Given the description of an element on the screen output the (x, y) to click on. 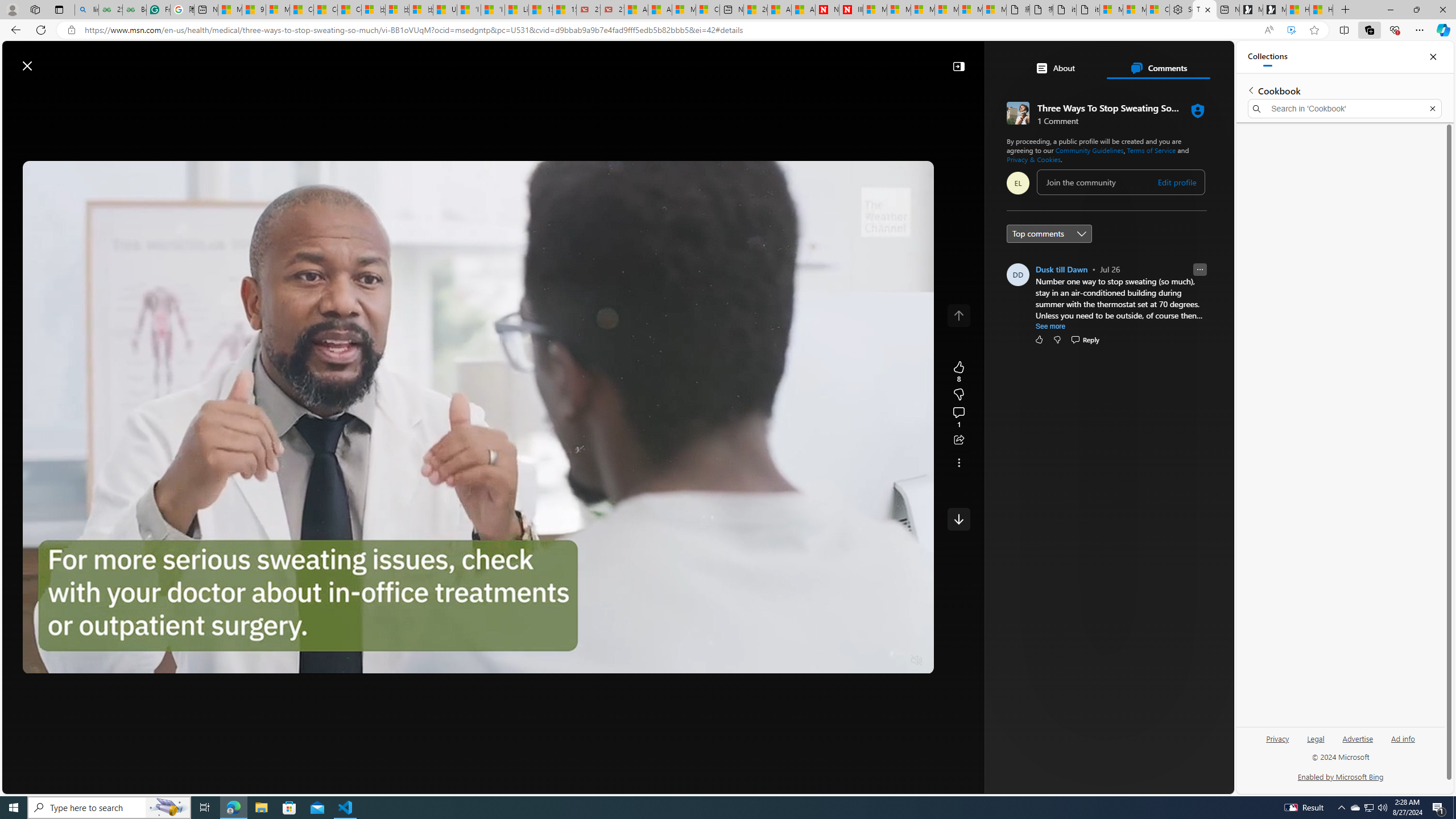
Unmute (916, 660)
Edit profile (1176, 181)
Pause (39, 660)
Comments (1157, 67)
